Given the description of an element on the screen output the (x, y) to click on. 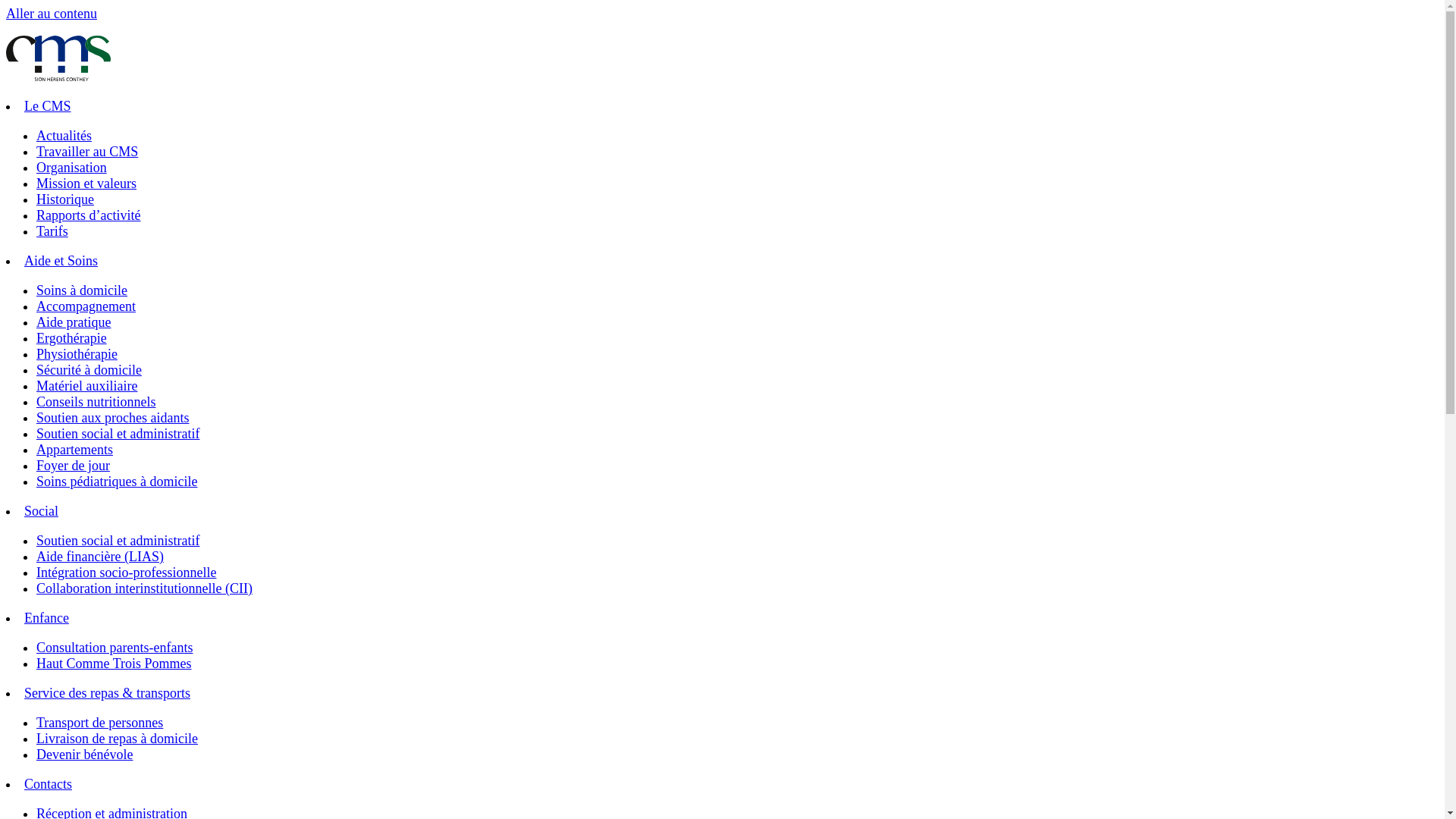
Mission et valeurs Element type: text (86, 183)
Transport de personnes Element type: text (99, 722)
Le CMS Element type: text (47, 105)
Soutien social et administratif Element type: text (117, 540)
Haut Comme Trois Pommes Element type: text (113, 663)
Aide et Soins Element type: text (60, 260)
Consultation parents-enfants Element type: text (114, 647)
Social Element type: text (41, 510)
Foyer de jour Element type: text (72, 465)
Enfance Element type: text (46, 617)
Soutien aux proches aidants Element type: text (112, 417)
Conseils nutritionnels Element type: text (96, 401)
Tarifs Element type: text (52, 230)
Organisation Element type: text (71, 167)
Collaboration interinstitutionnelle (CII) Element type: text (144, 588)
Appartements Element type: text (74, 449)
Aller au contenu Element type: text (51, 13)
Accompagnement Element type: text (85, 305)
Service des repas & transports Element type: text (107, 692)
Aide pratique Element type: text (73, 321)
Contacts Element type: text (48, 783)
Travailler au CMS Element type: text (87, 151)
Soutien social et administratif Element type: text (117, 433)
Historique Element type: text (65, 199)
